Given the description of an element on the screen output the (x, y) to click on. 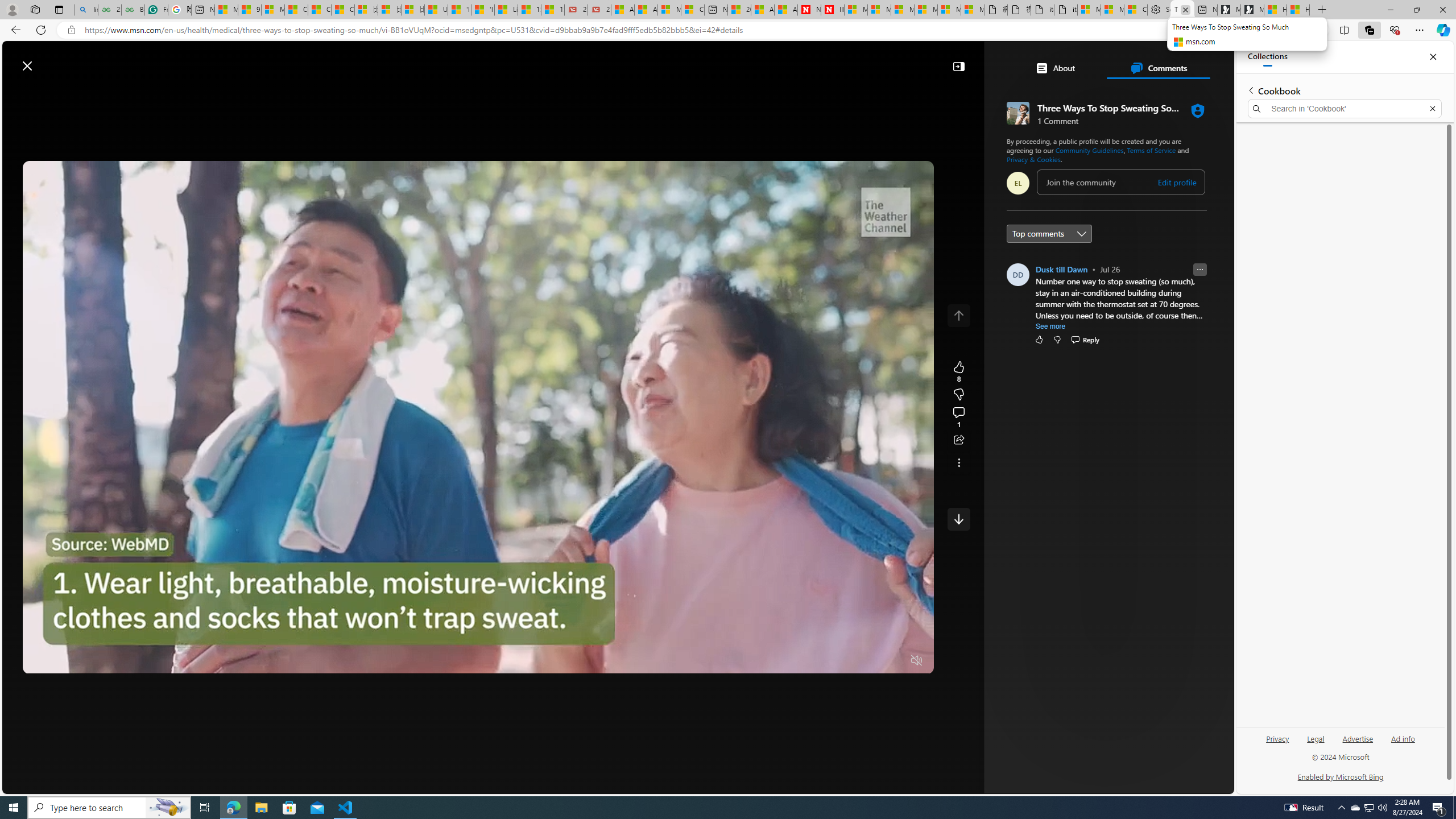
Terms of Service (1151, 149)
Fix Boat Bliss (1122, 219)
The Wall Street Journal (1060, 366)
21 Movies That Outdid the Books They Were Based On (598, 9)
Illness news & latest pictures from Newsweek.com (832, 9)
